Given the description of an element on the screen output the (x, y) to click on. 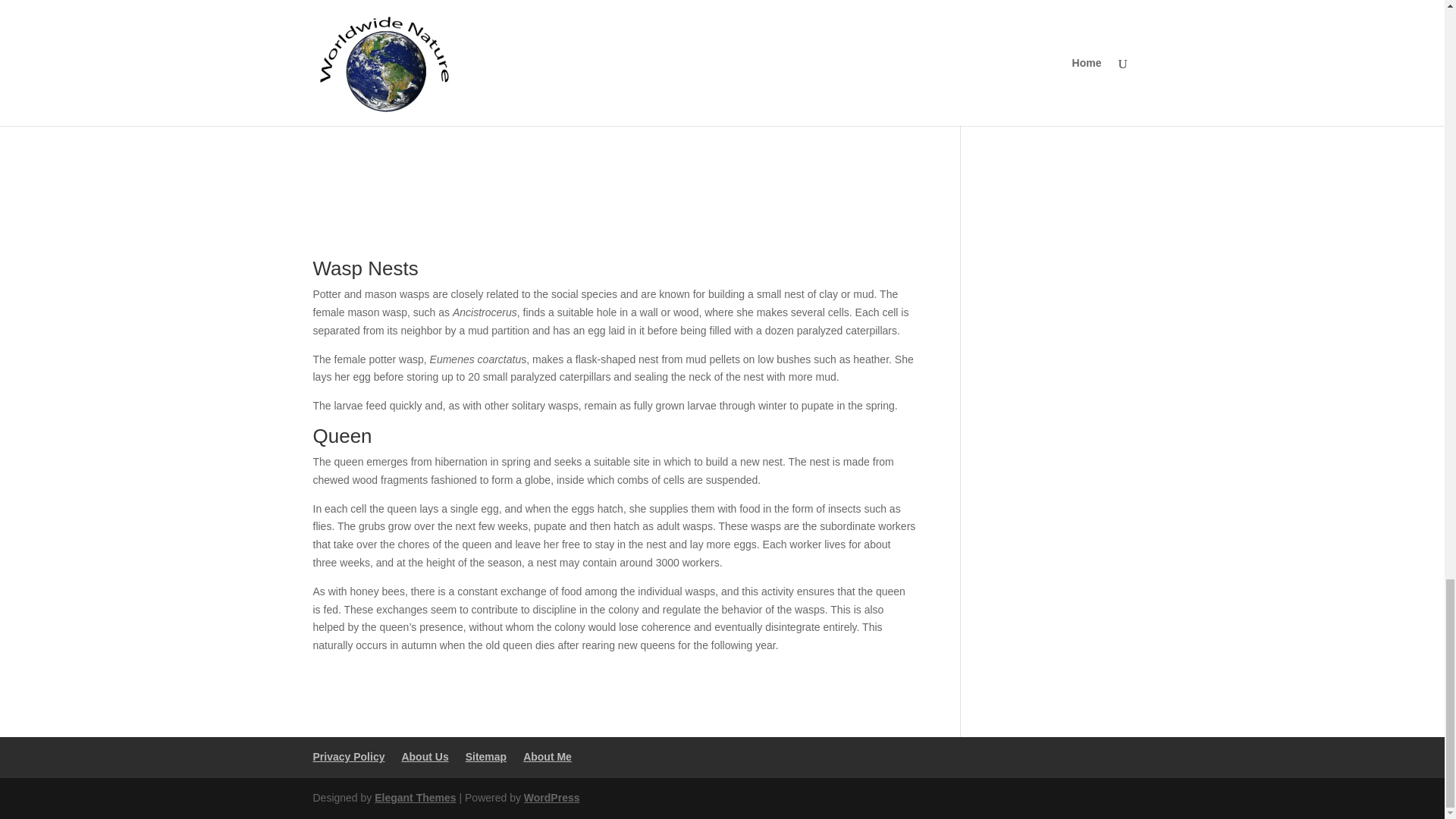
Premium WordPress Themes (414, 797)
Sitemap (485, 756)
About Me (547, 756)
WordPress (551, 797)
Elegant Themes (414, 797)
About Us (424, 756)
Privacy Policy (348, 756)
